Given the description of an element on the screen output the (x, y) to click on. 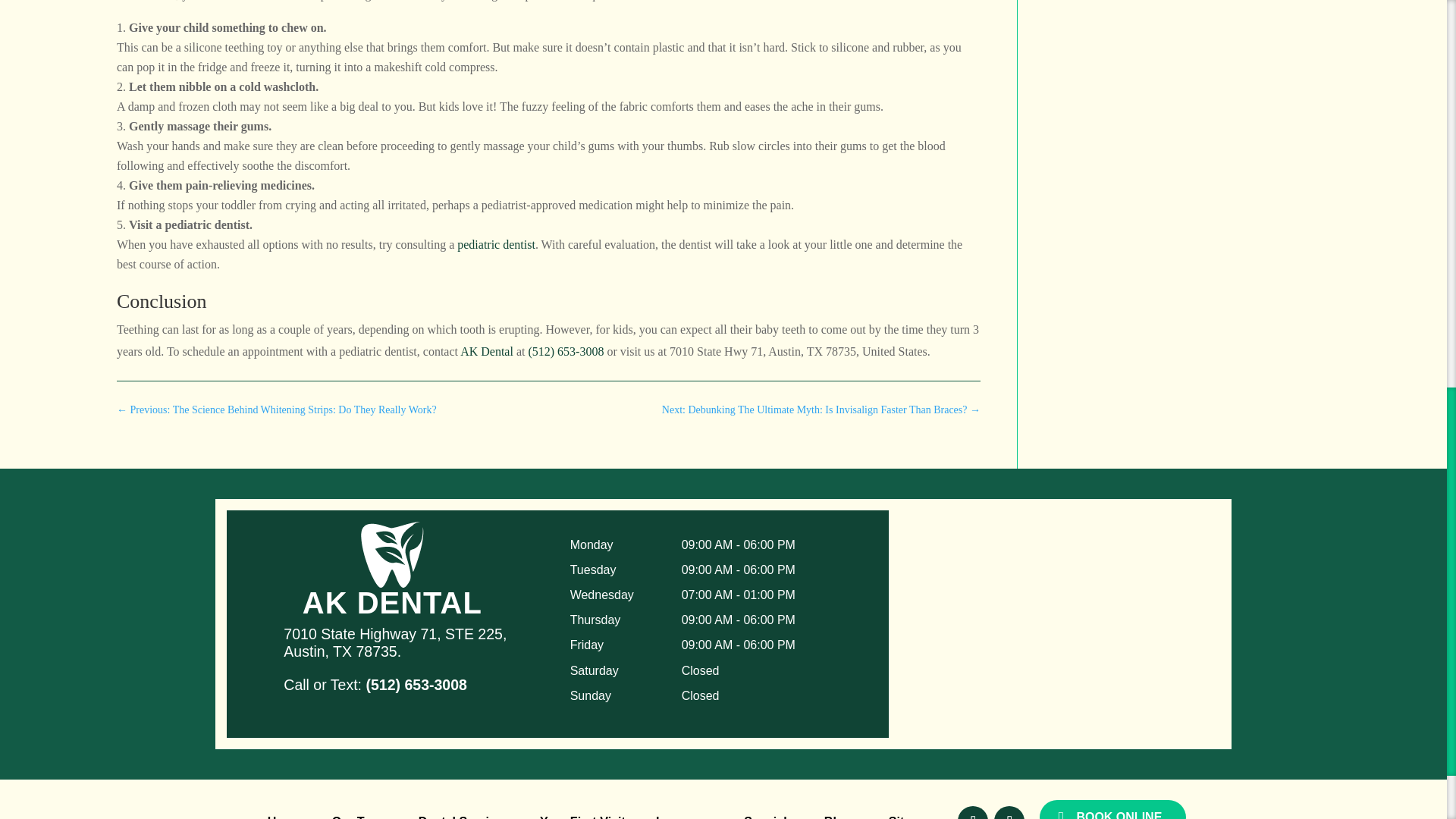
Follow on Instagram (1009, 812)
Home (284, 817)
Follow on Facebook (973, 812)
pediatric dentist (496, 244)
Your First Visit (583, 817)
Sitemap (912, 817)
Insurance (684, 817)
Specials (768, 817)
AK Dental (486, 350)
Our Team (359, 817)
Blogs (841, 817)
Dental Services (464, 817)
